Given the description of an element on the screen output the (x, y) to click on. 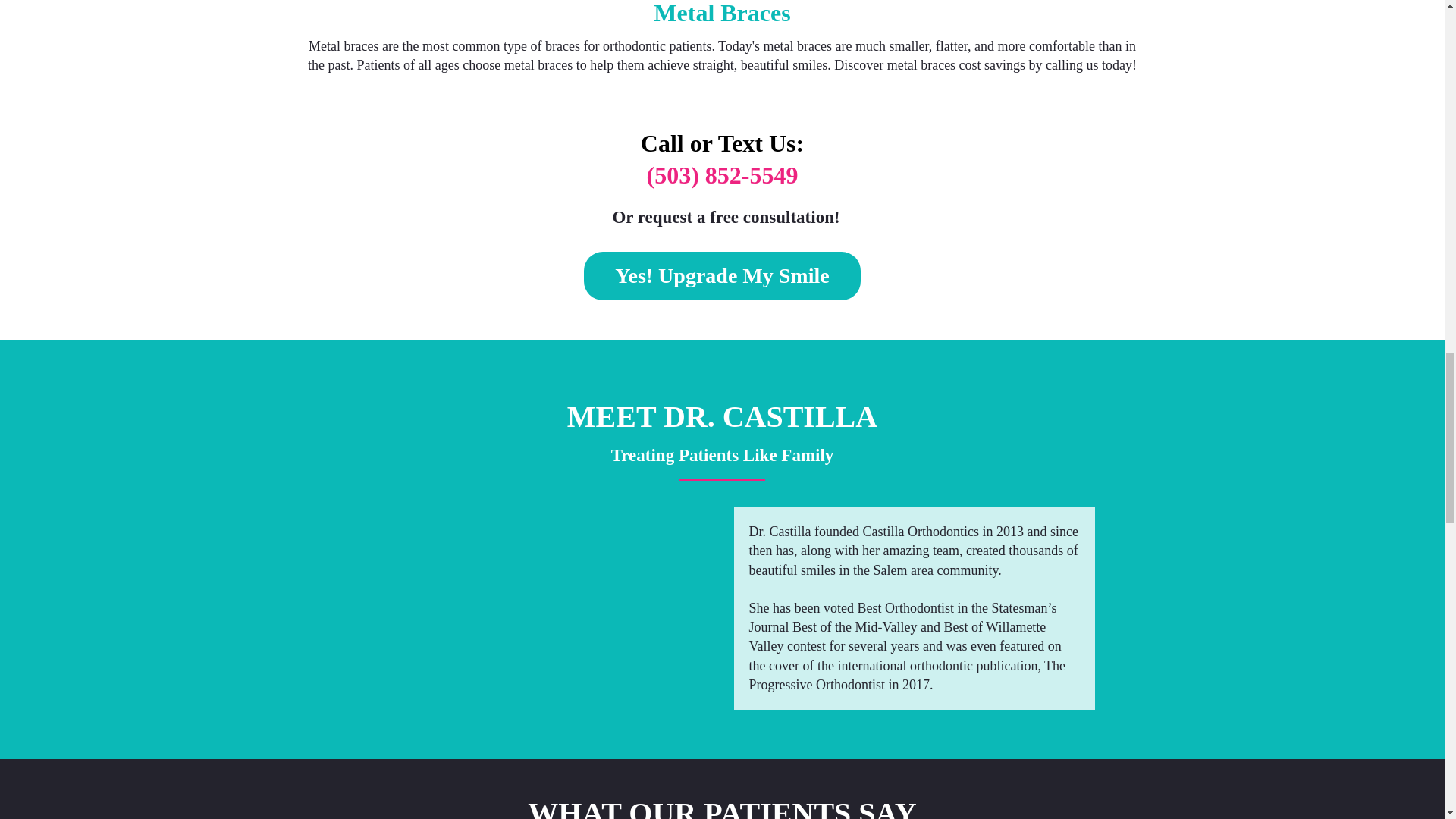
Yes! Upgrade My Smile (721, 275)
